Given the description of an element on the screen output the (x, y) to click on. 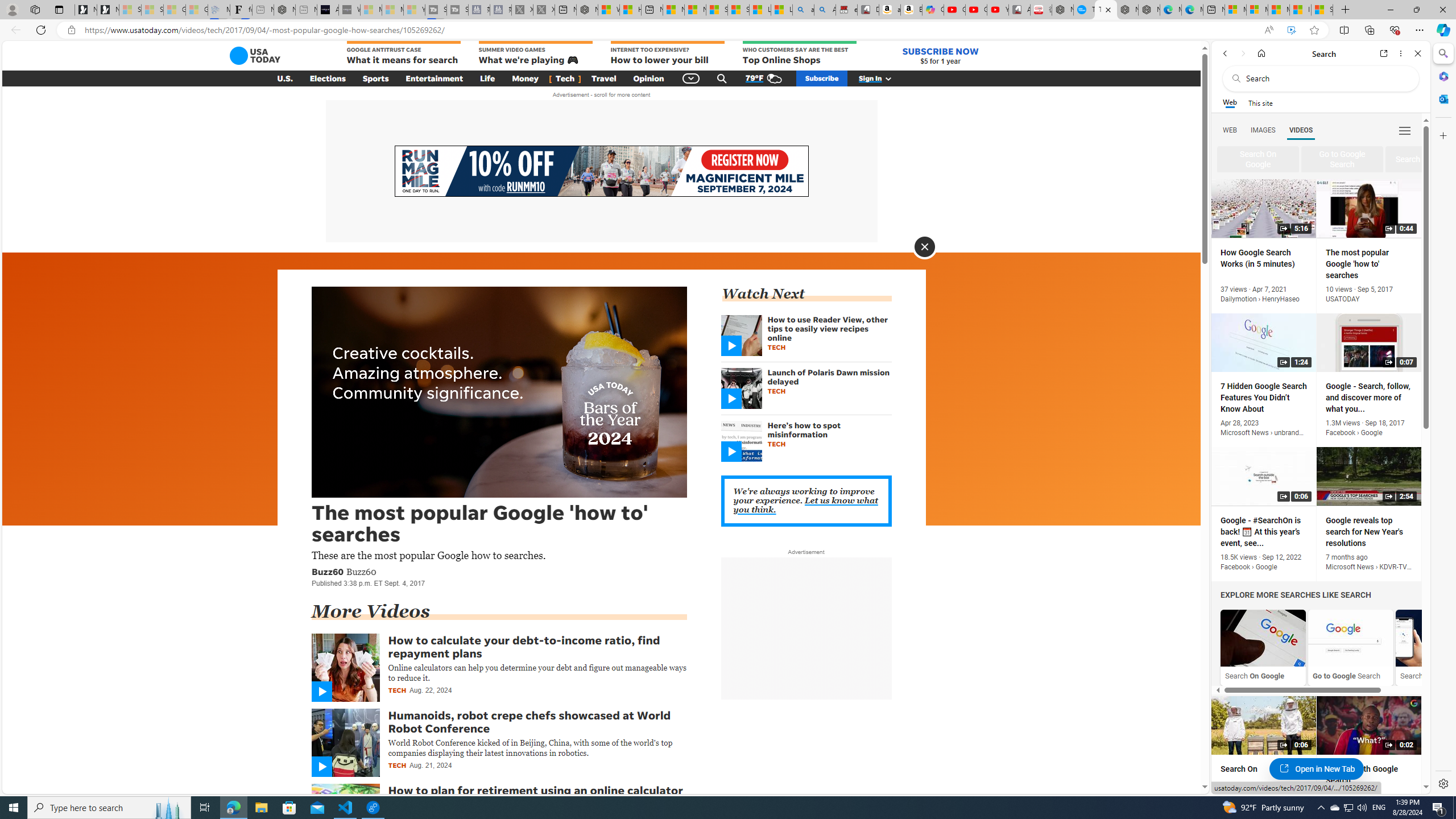
Class: gnt_rc_svg (730, 451)
Forward (1242, 53)
VIDEOS   (1300, 130)
INTERNET TOO EXPENSIVE? How to lower your bill (667, 53)
